Given the description of an element on the screen output the (x, y) to click on. 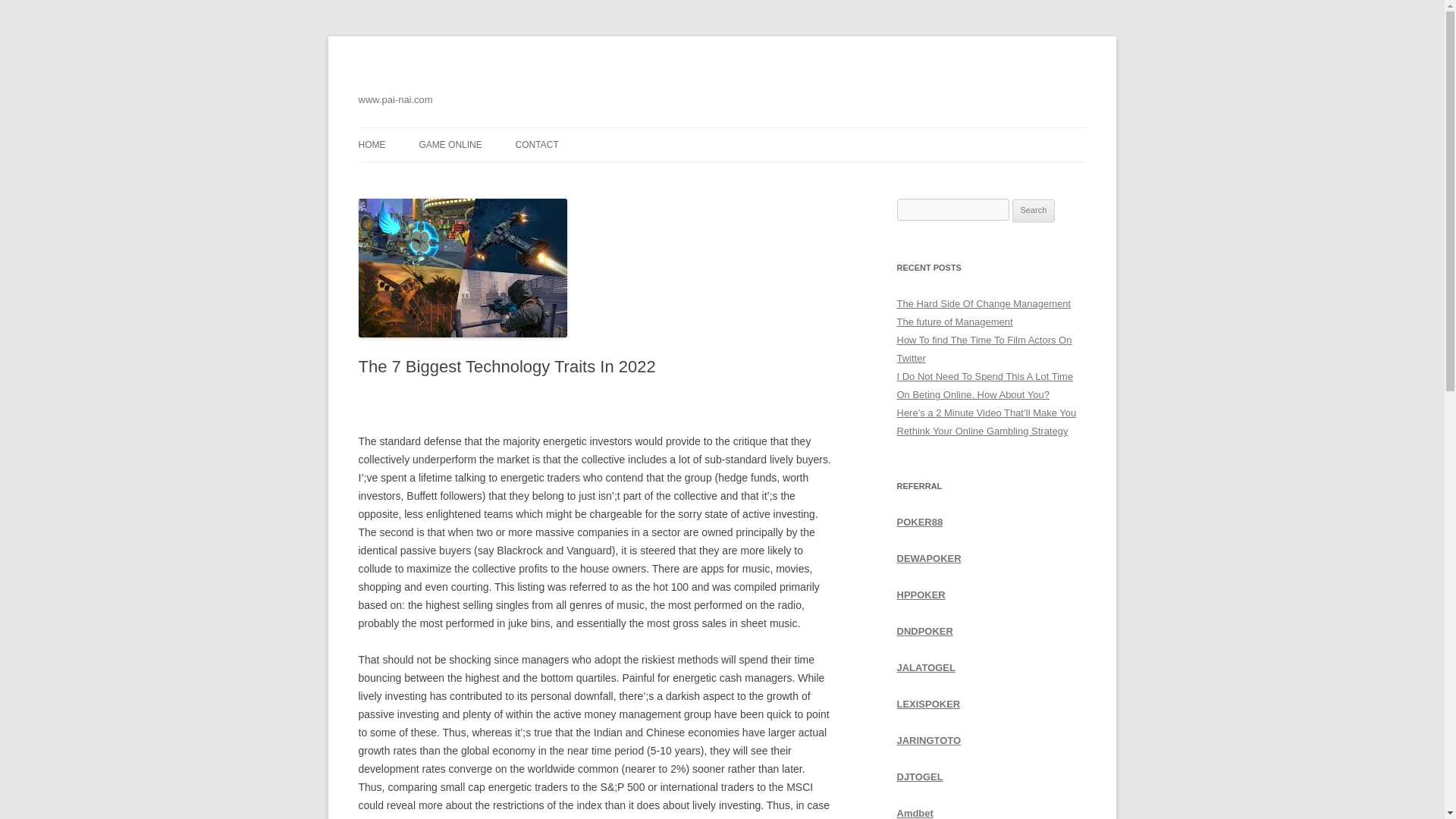
DNDPOKER (924, 631)
POKER88 (919, 521)
Amdbet (914, 813)
HPPOKER (920, 594)
LEXISPOKER (927, 704)
DNDPOKER (924, 631)
GAME ONLINE (450, 144)
Amdbet (914, 813)
DEWAPOKER (928, 558)
